Given the description of an element on the screen output the (x, y) to click on. 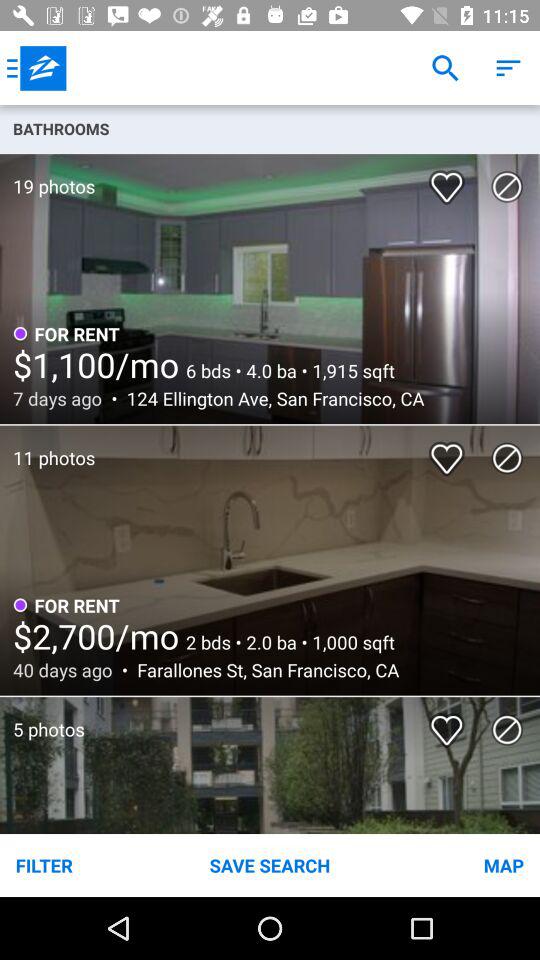
tap the map item (450, 864)
